Given the description of an element on the screen output the (x, y) to click on. 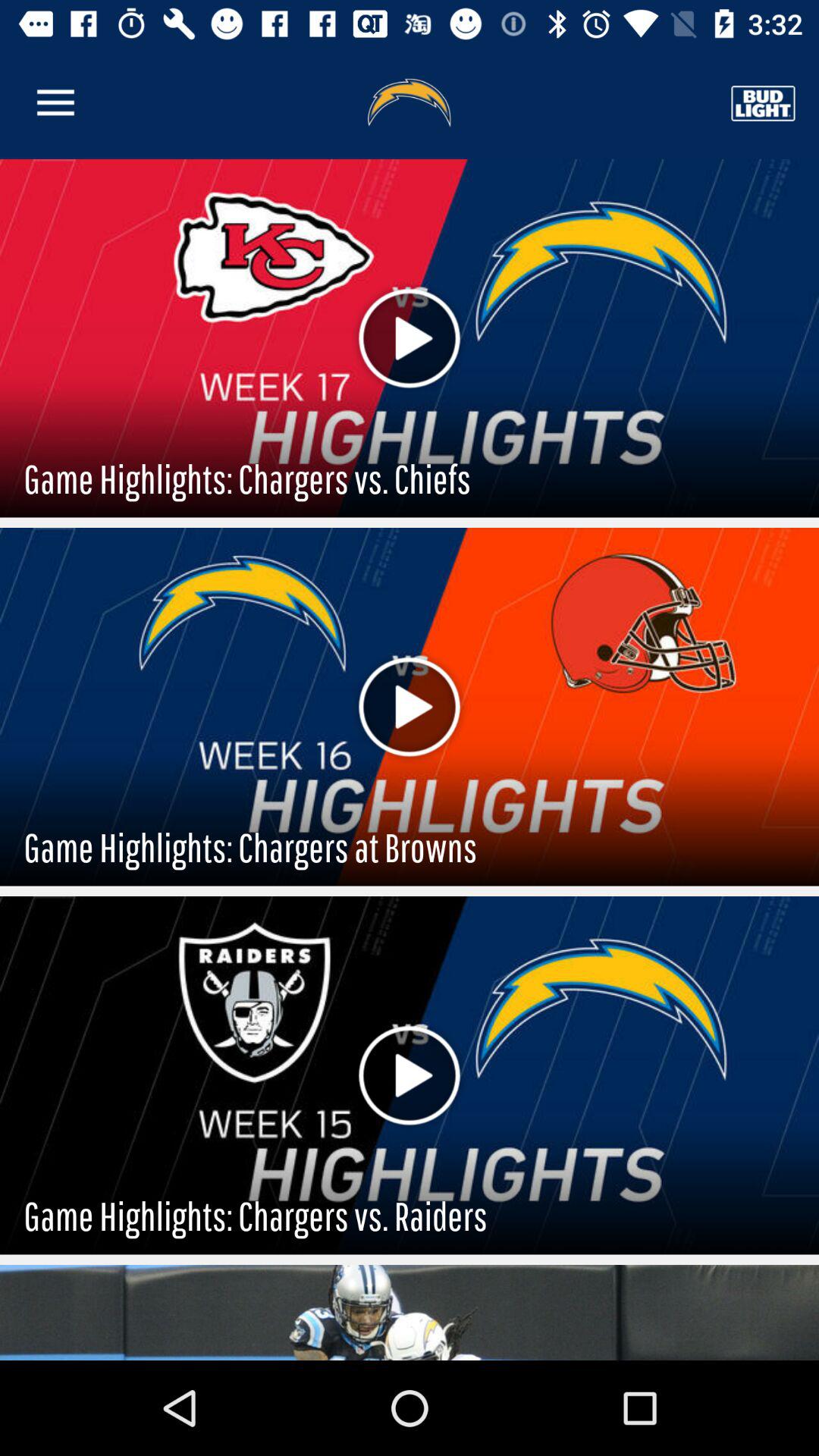
turn on item at the top right corner (763, 103)
